Given the description of an element on the screen output the (x, y) to click on. 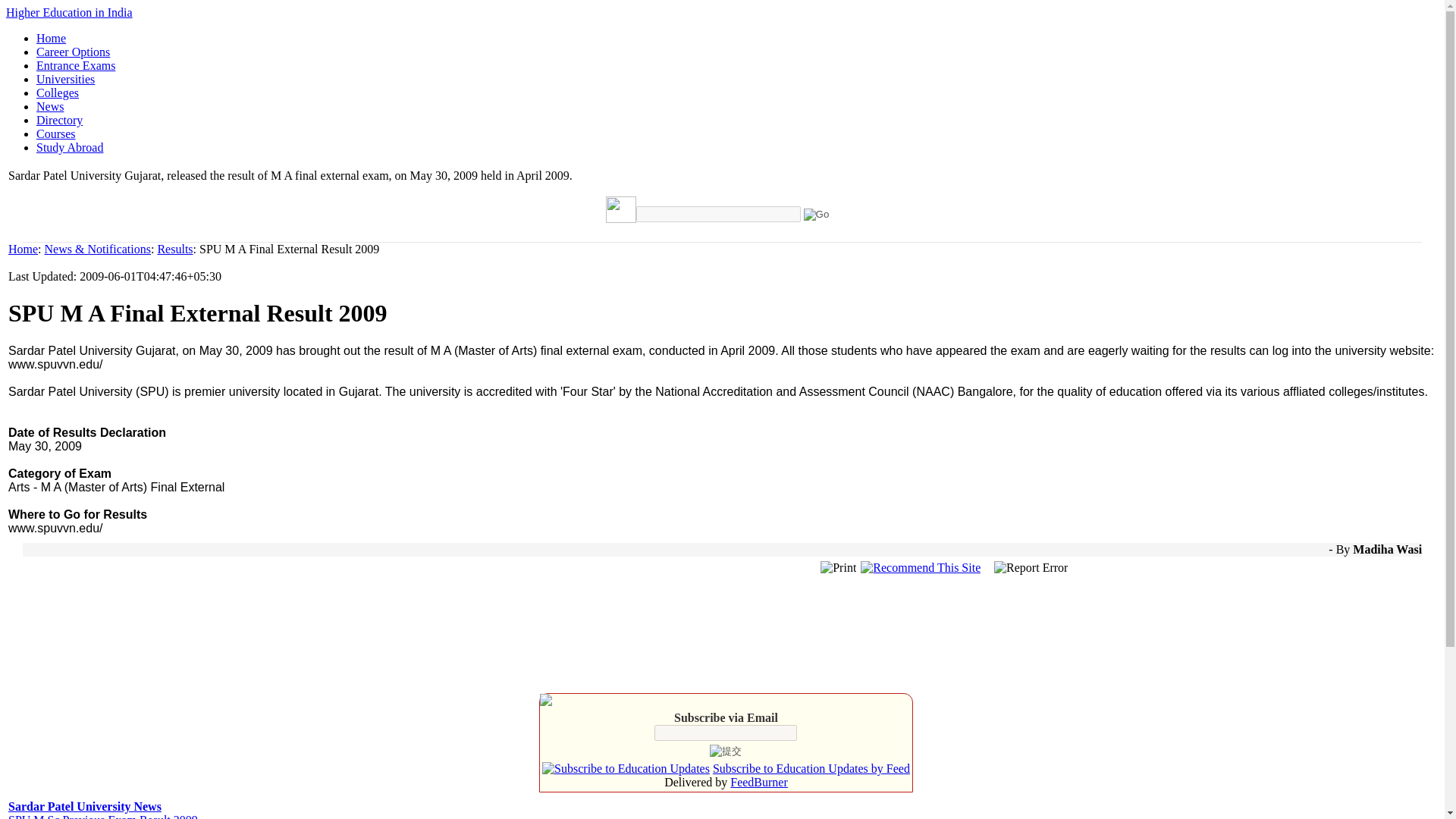
Recommend This Site (919, 567)
SPU M Sc Previous Exam Result 2009 (103, 816)
Study Abroad (69, 146)
Sardar Patel University News (84, 806)
Directory (59, 119)
Subscribe to Education Updates by Feed (811, 768)
FeedBurner (758, 781)
Entrance Exams (75, 65)
Home (22, 248)
Results (174, 248)
